Given the description of an element on the screen output the (x, y) to click on. 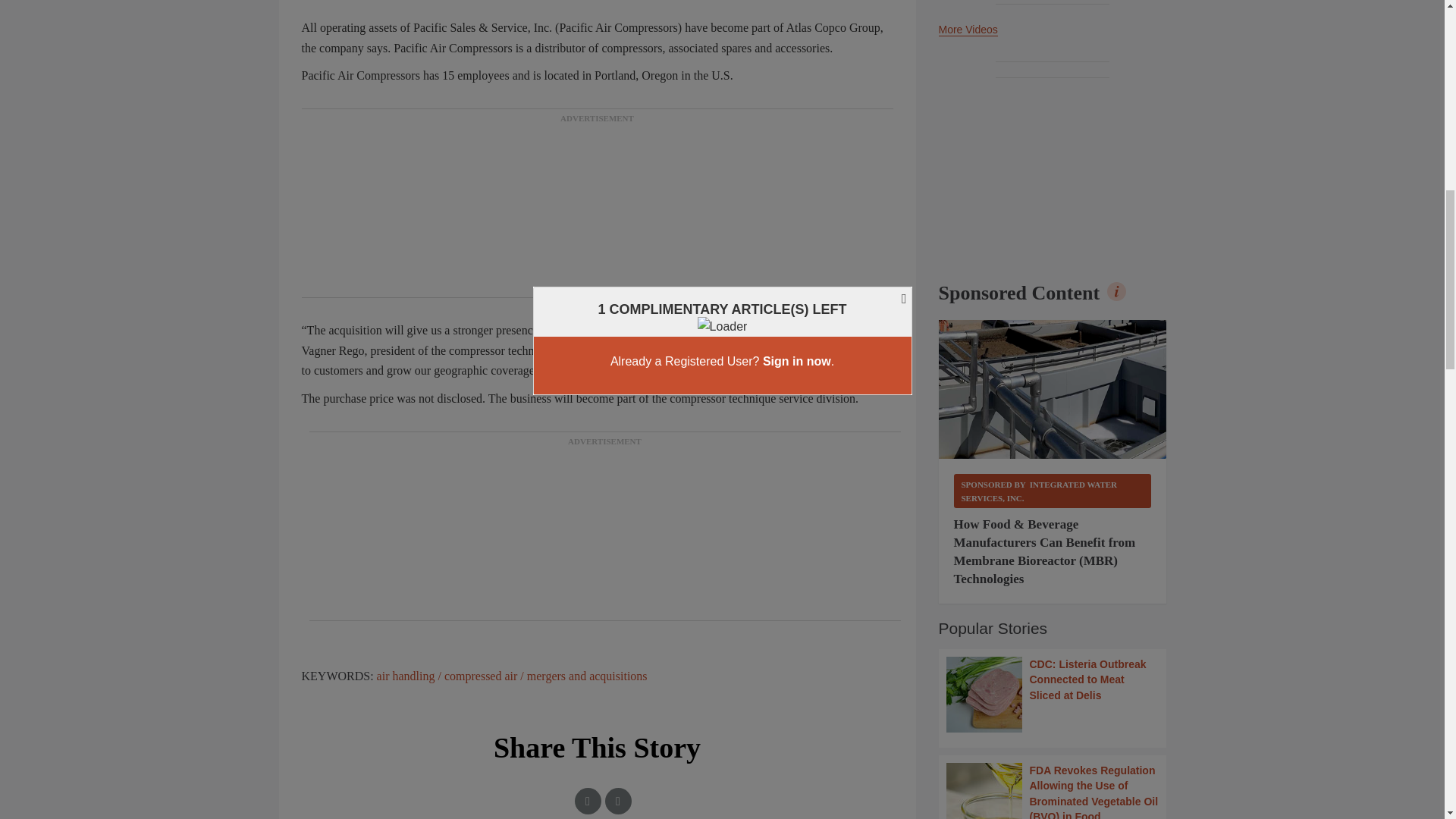
Sponsored by Integrated Water Services, Inc. (1052, 490)
MBR (1052, 389)
CDC: Listeria Outbreak Connected to Meat Sliced at Delis (1052, 694)
